Given the description of an element on the screen output the (x, y) to click on. 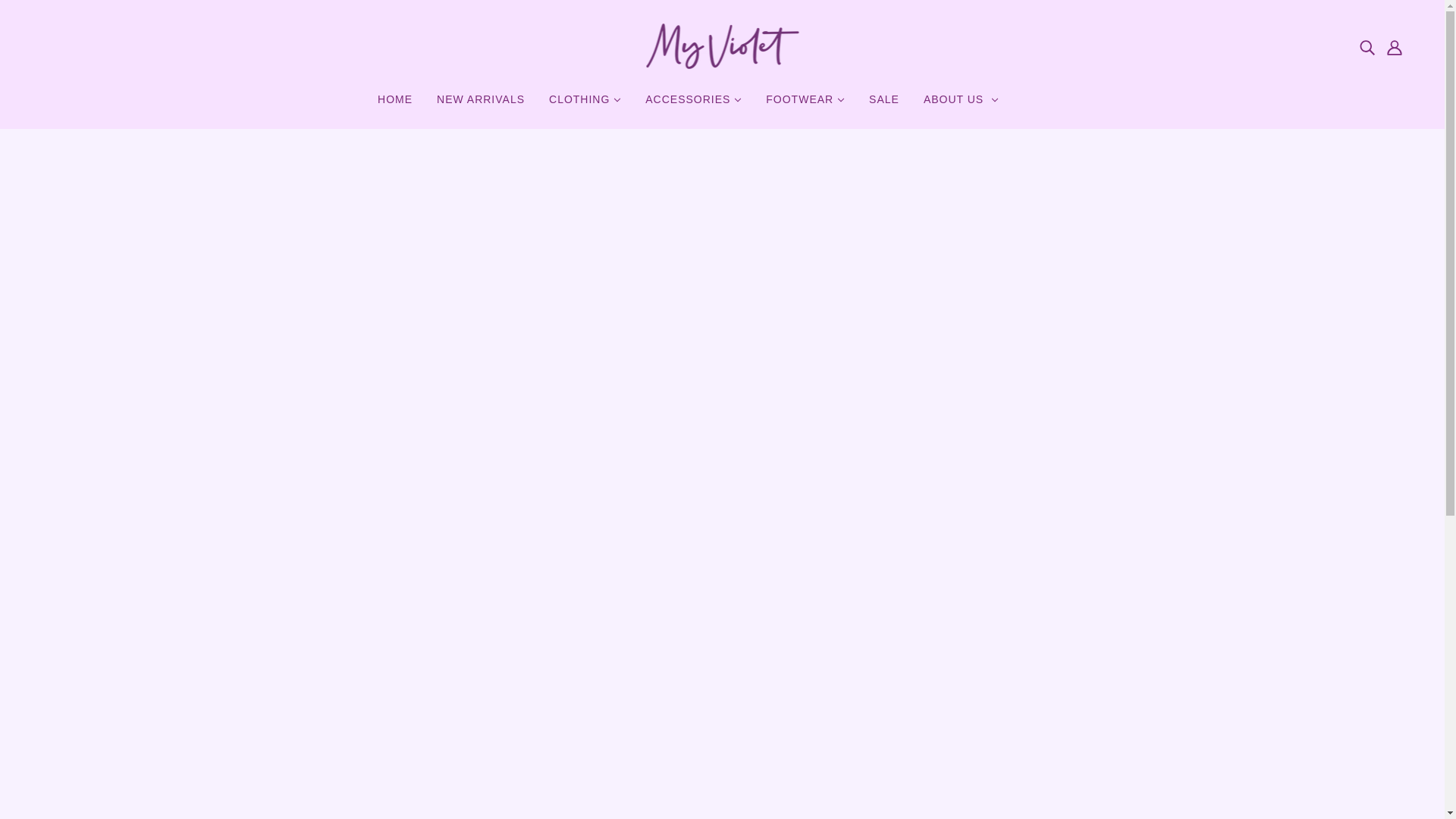
HOME (395, 104)
My Violet (721, 63)
